Given the description of an element on the screen output the (x, y) to click on. 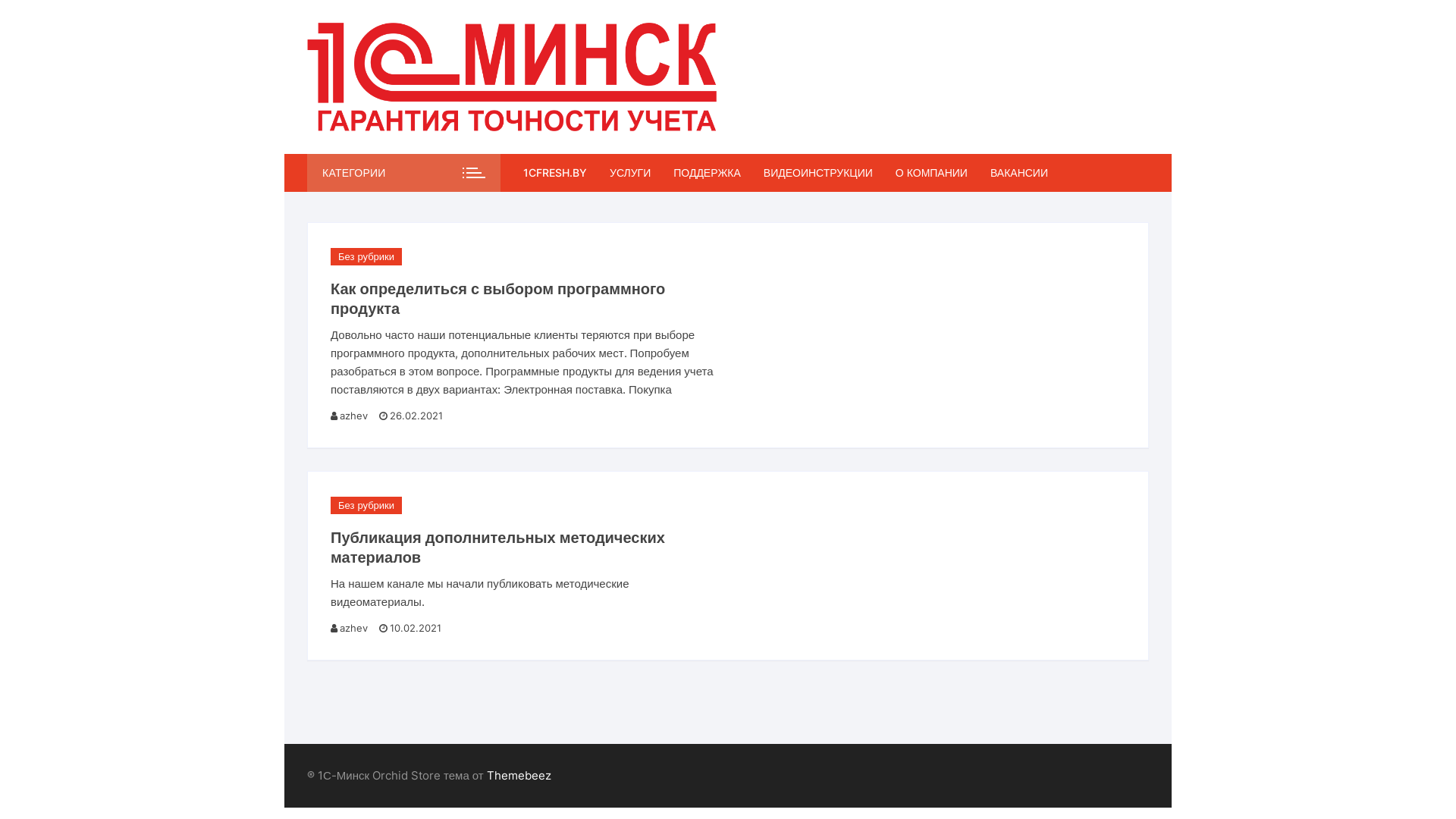
26.02.2021 Element type: text (410, 415)
azhev Element type: text (354, 415)
azhev Element type: text (354, 628)
1CFRESH.BY Element type: text (560, 172)
10.02.2021 Element type: text (410, 628)
Themebeez Element type: text (518, 775)
